Given the description of an element on the screen output the (x, y) to click on. 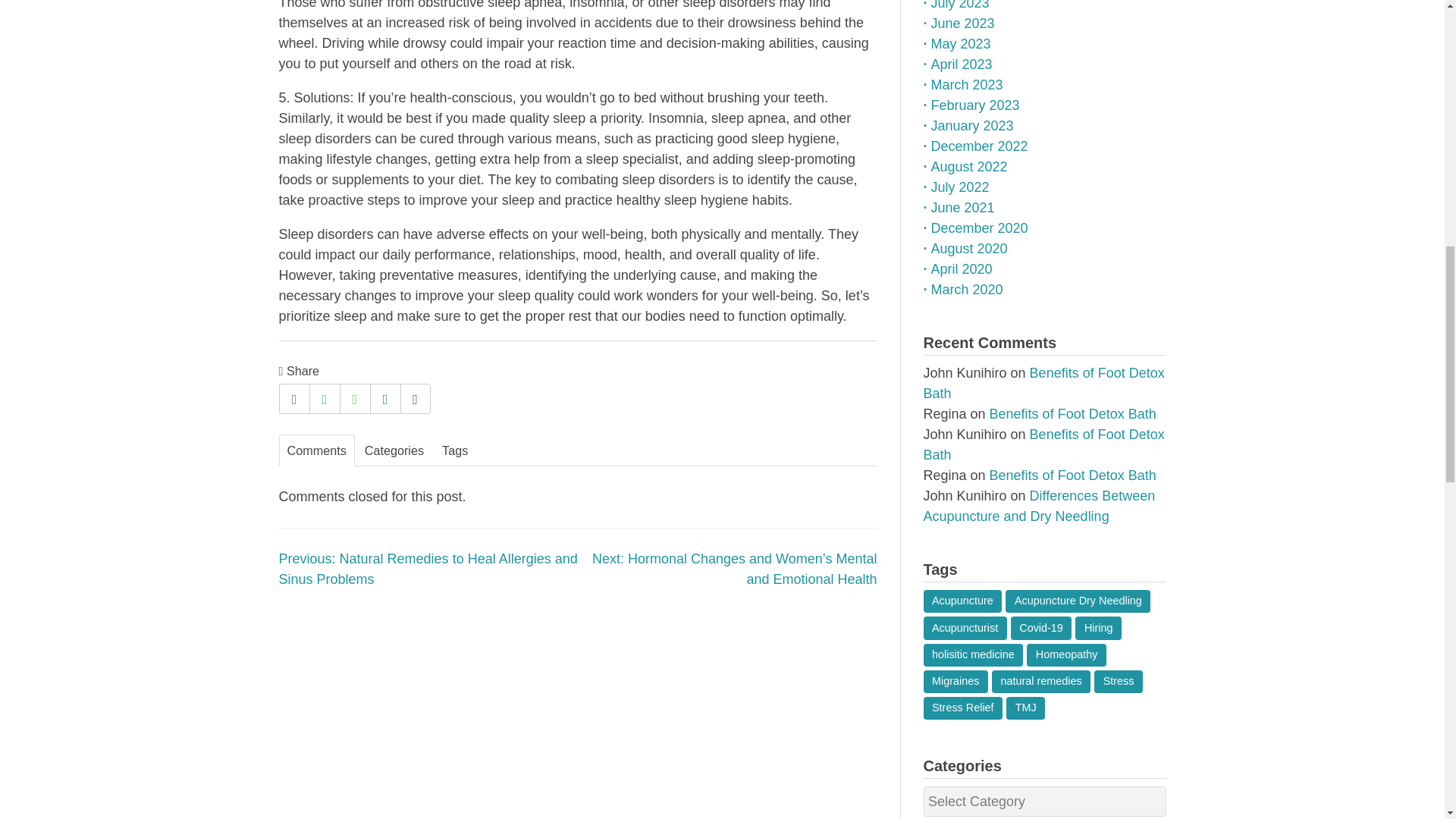
Share on LinkedIn (384, 399)
Share on Pinteest (415, 399)
Share on Facebook (293, 399)
Share on Twitter (323, 399)
Share on WhatsApp (354, 399)
